Given the description of an element on the screen output the (x, y) to click on. 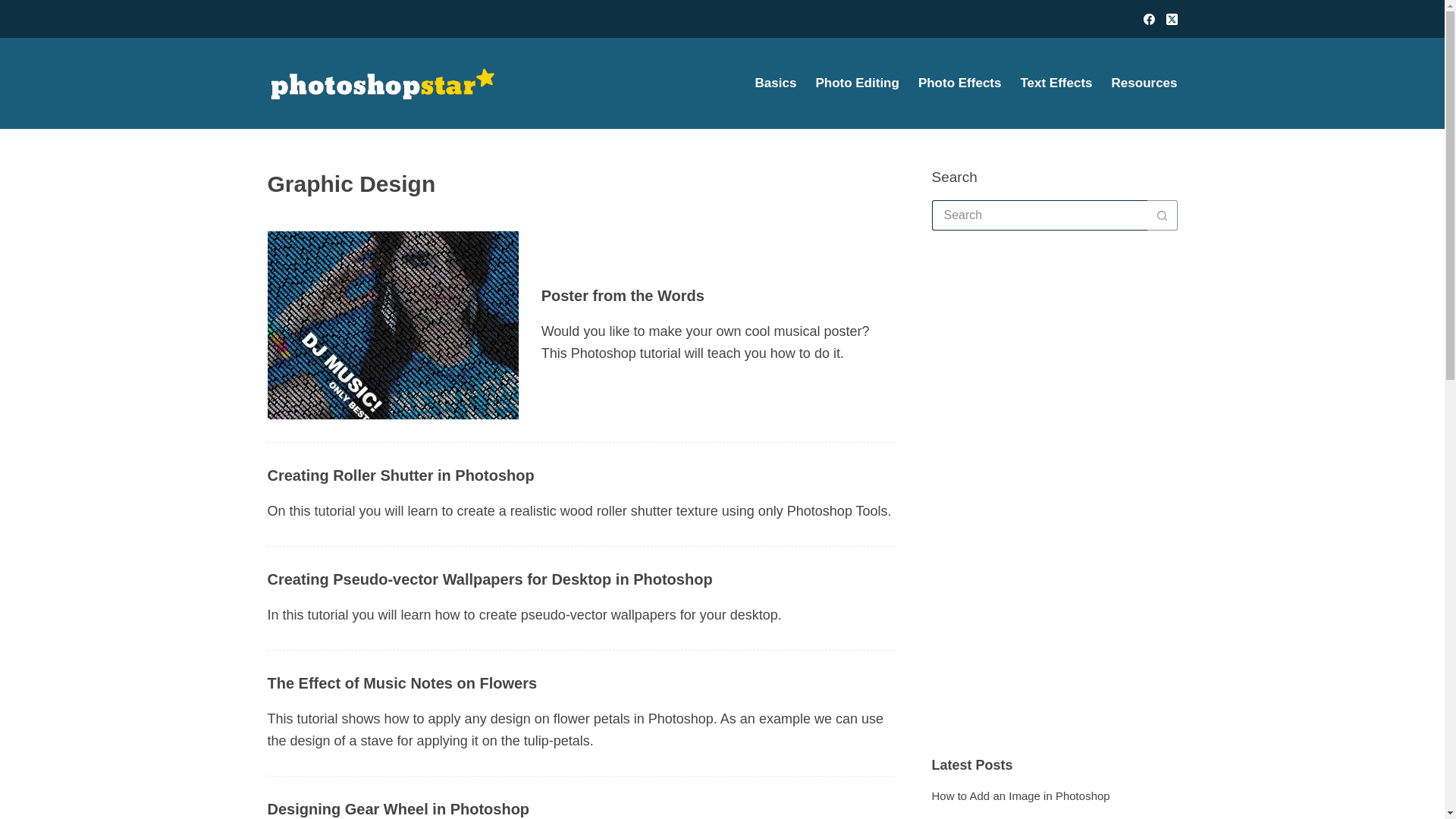
Text Effects (1056, 82)
Graphic Design (580, 183)
Creating Roller Shutter in Photoshop (400, 475)
Creating Pseudo-vector Wallpapers for Desktop in Photoshop (488, 579)
Poster from the Words (622, 294)
Search for... (1039, 214)
Photo Editing (857, 82)
Photo Effects (959, 82)
Designing Gear Wheel in Photoshop (397, 808)
The Effect of Music Notes on Flowers (401, 682)
Skip to content (15, 7)
How to Add an Image in Photoshop (1020, 795)
